Given the description of an element on the screen output the (x, y) to click on. 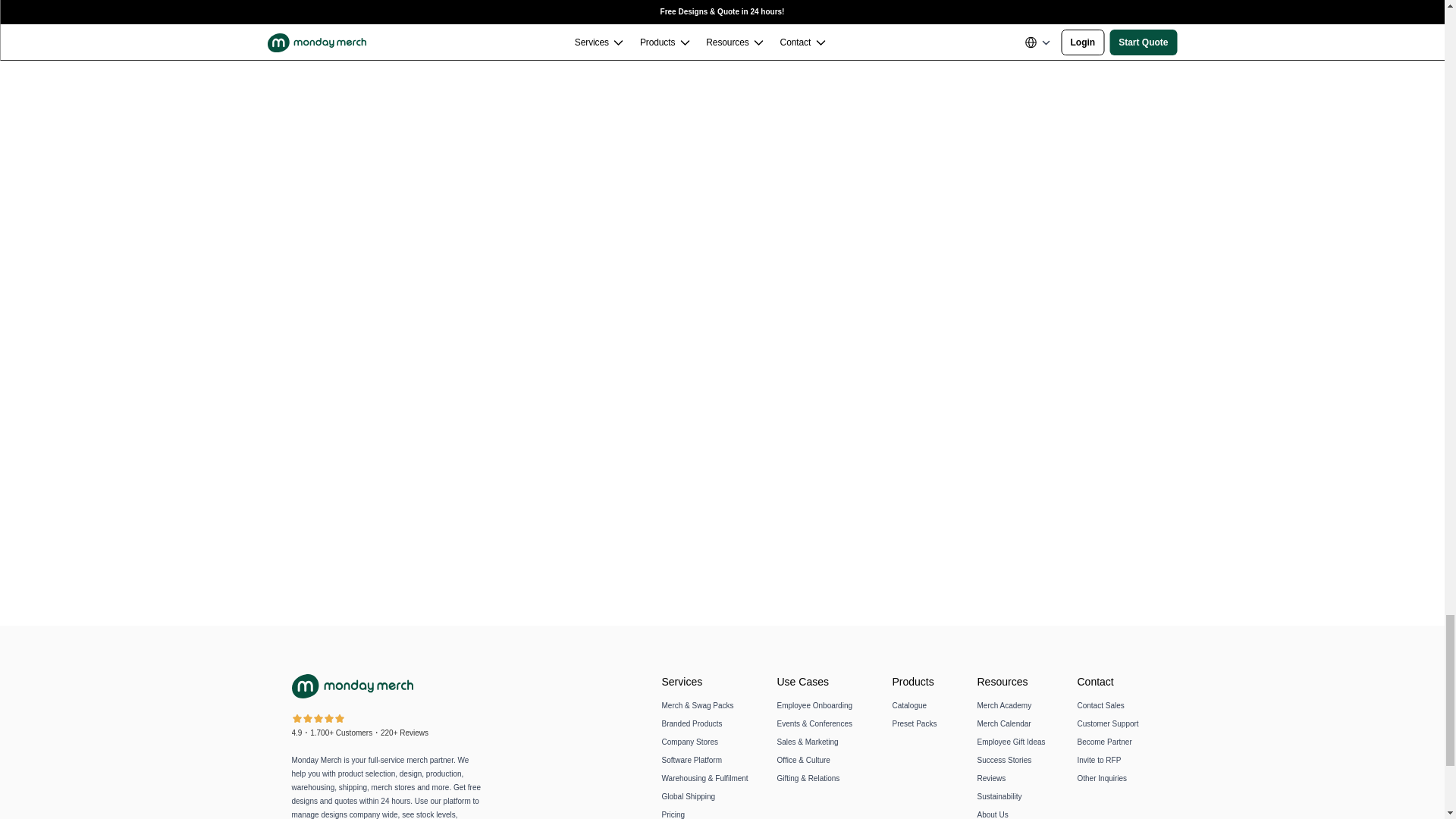
Success Stories (1003, 759)
Other Inquiries (1101, 777)
Preset Packs (913, 723)
Software Platform (690, 759)
Employee Gift Ideas (1010, 741)
Employee Onboarding (813, 705)
Branded Products (691, 723)
Pricing (672, 814)
Customer Support (1107, 723)
Become Partner (1104, 741)
